Given the description of an element on the screen output the (x, y) to click on. 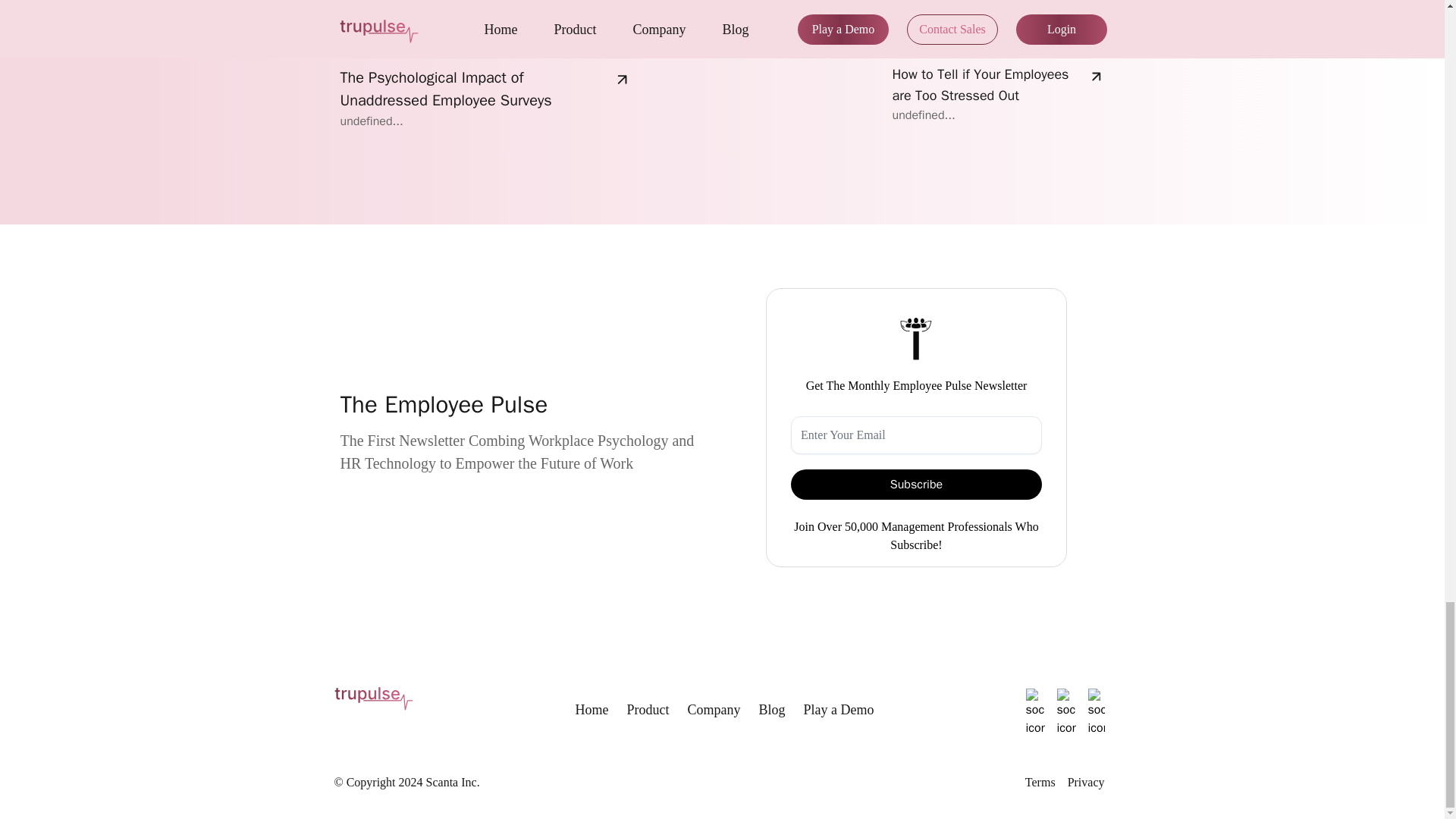
Subscribe (916, 484)
Home (591, 709)
Terms (1040, 782)
Play a Demo (839, 709)
Product (647, 709)
Blog (771, 709)
Company (713, 709)
Privacy (1085, 782)
